Given the description of an element on the screen output the (x, y) to click on. 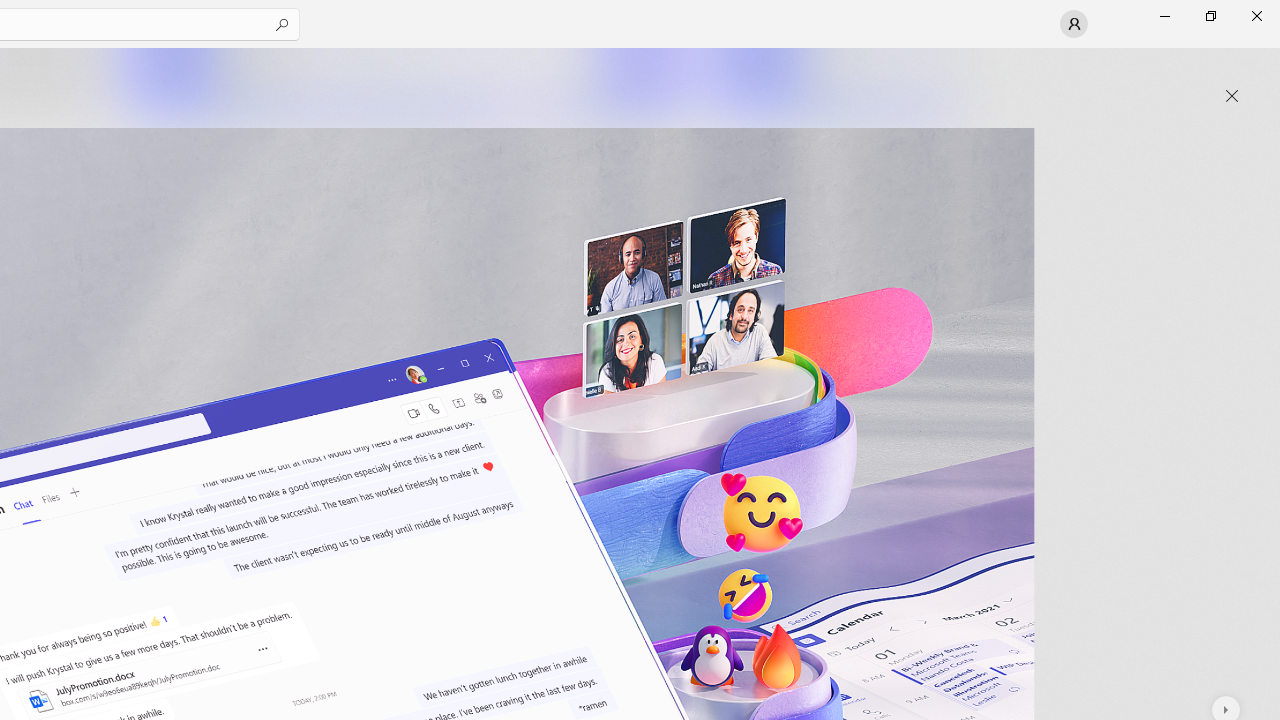
Restore Microsoft Store (1210, 15)
Close Microsoft Store (1256, 15)
Show all ratings and reviews (924, 495)
User profile (1073, 24)
Screenshot 2 (406, 81)
close popup window (1232, 95)
Minimize Microsoft Store (1164, 15)
Screenshot 3 (833, 81)
